Given the description of an element on the screen output the (x, y) to click on. 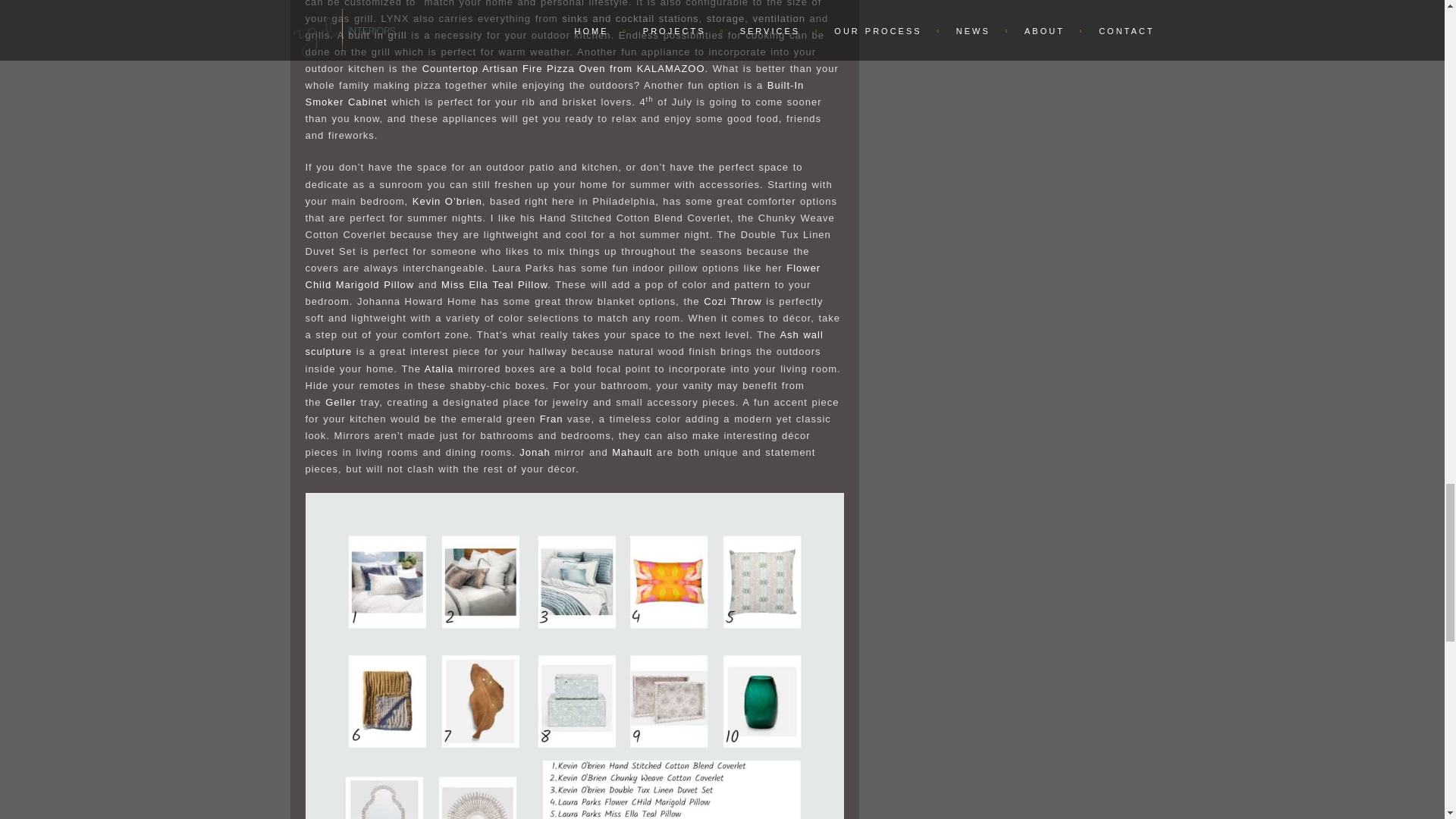
storage (725, 18)
sinks and cocktail stations (630, 18)
built in grill (376, 34)
ventilation (778, 18)
Countertop Artisan Fire Pizza Oven from KALAMAZOO. (565, 68)
